Given the description of an element on the screen output the (x, y) to click on. 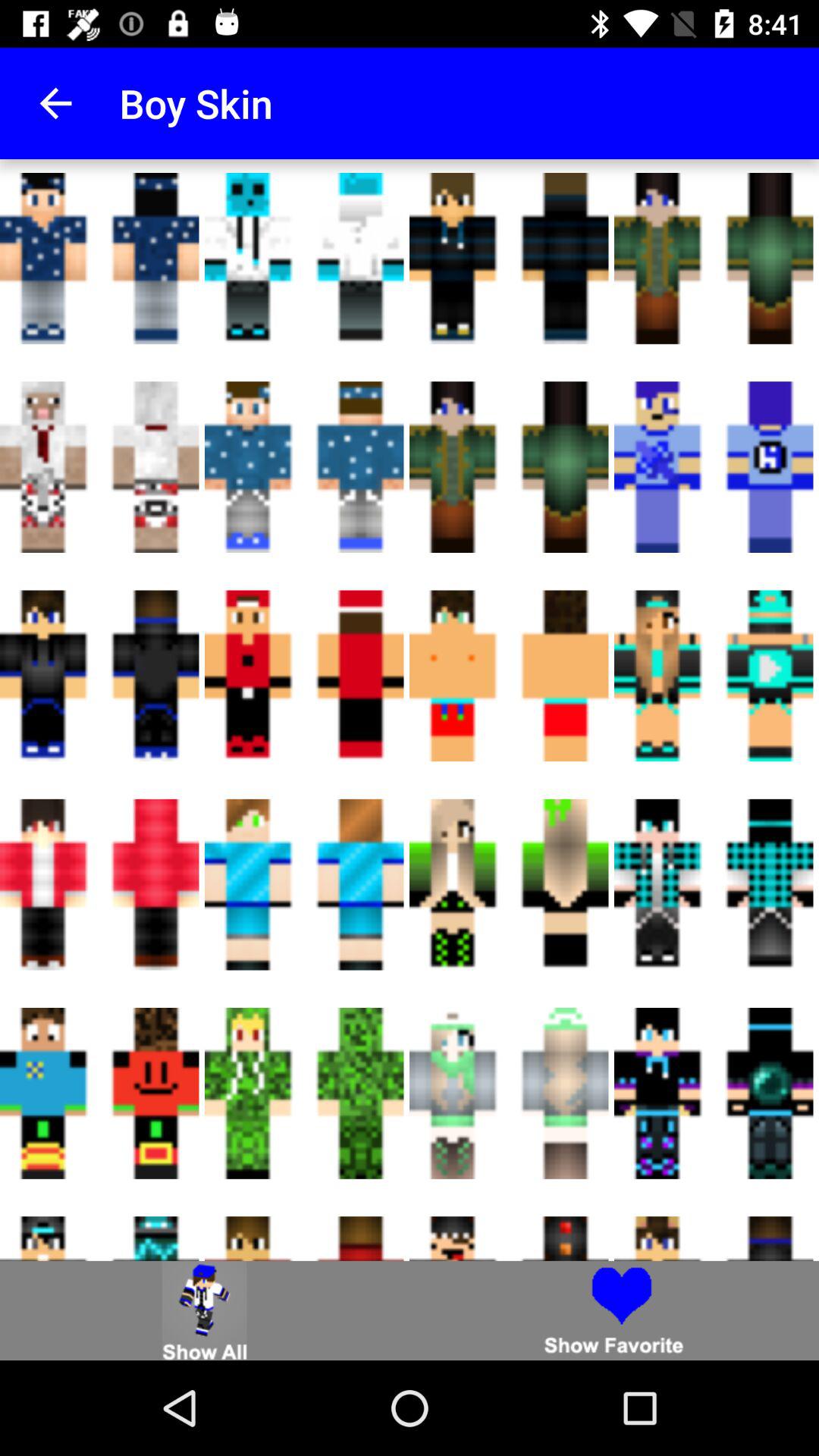
show favorite (614, 1310)
